Given the description of an element on the screen output the (x, y) to click on. 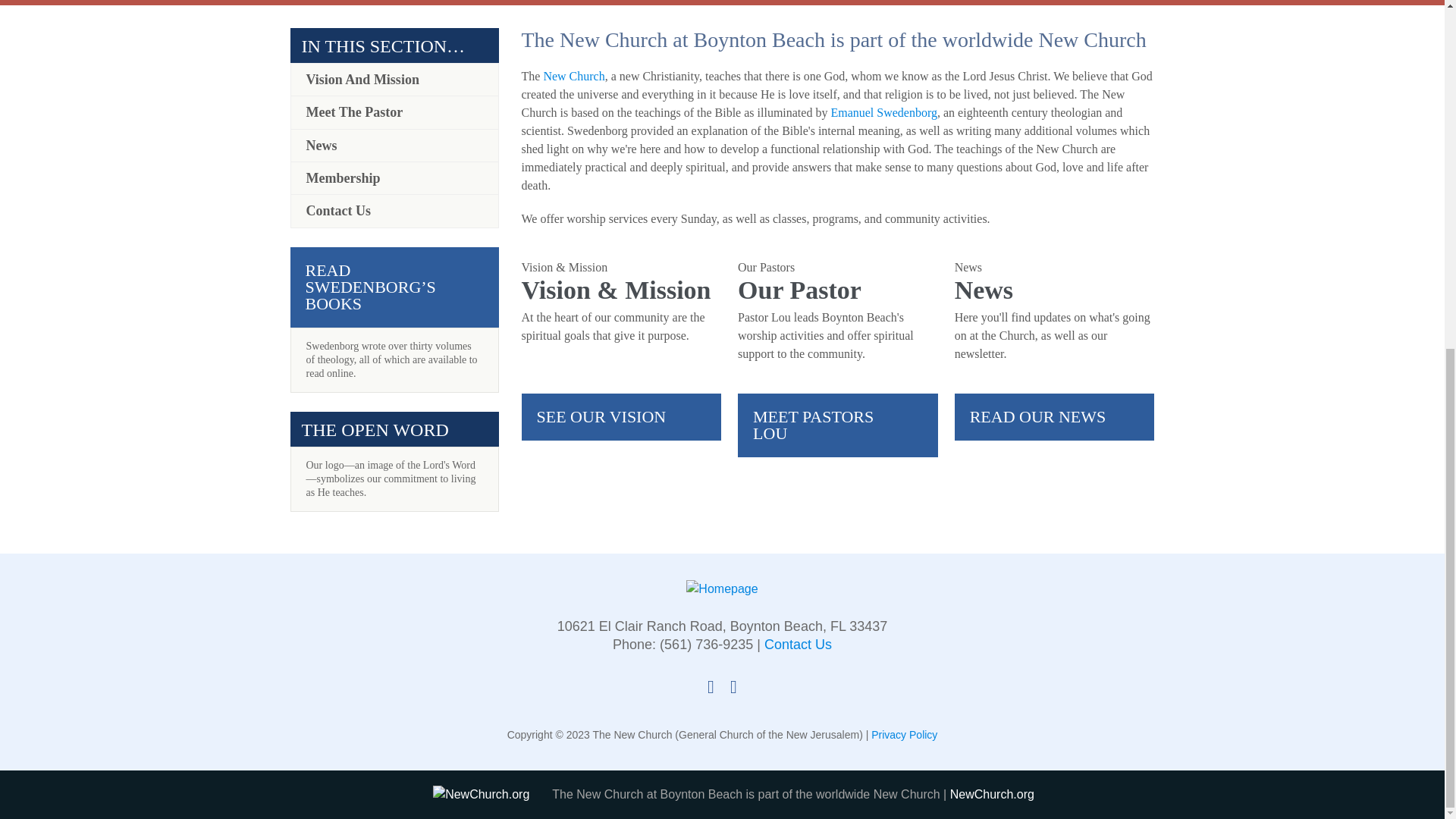
New Church (573, 75)
Vision And Mission (394, 79)
SEE OUR VISION (621, 416)
Meet The Pastor (394, 111)
READ OUR NEWS (1054, 416)
News (394, 145)
Emanuel Swedenborg (883, 112)
MEET PASTORS LOU (837, 425)
